Given the description of an element on the screen output the (x, y) to click on. 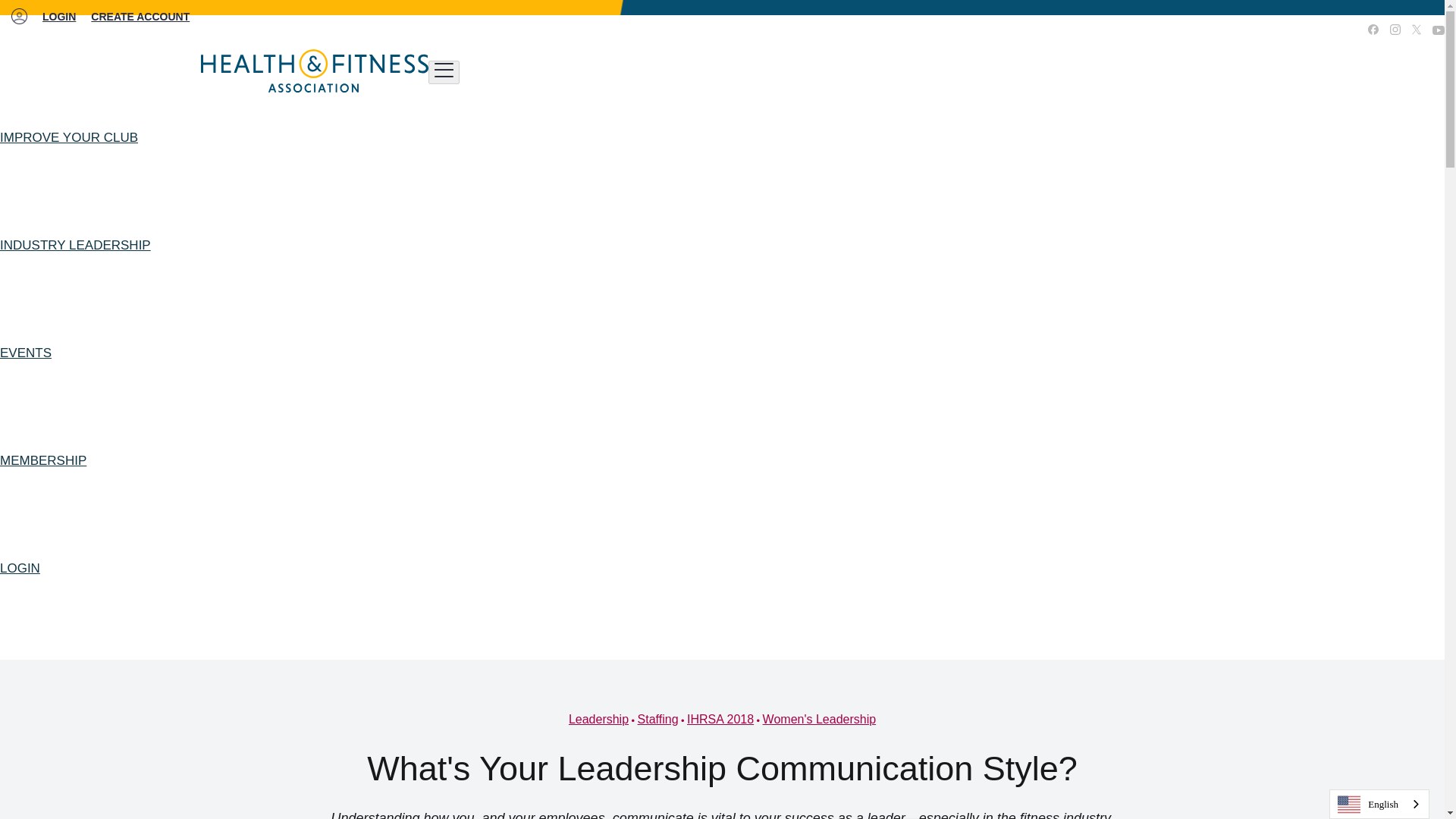
Toggle navigation (444, 72)
ABOUT (1261, 30)
IMPROVE YOUR CLUB (69, 137)
INDUSTRY LEADERSHIP (75, 245)
CONTACT (1317, 30)
SEARCH (1209, 30)
CREATE ACCOUNT (139, 16)
LOGIN (58, 16)
